Given the description of an element on the screen output the (x, y) to click on. 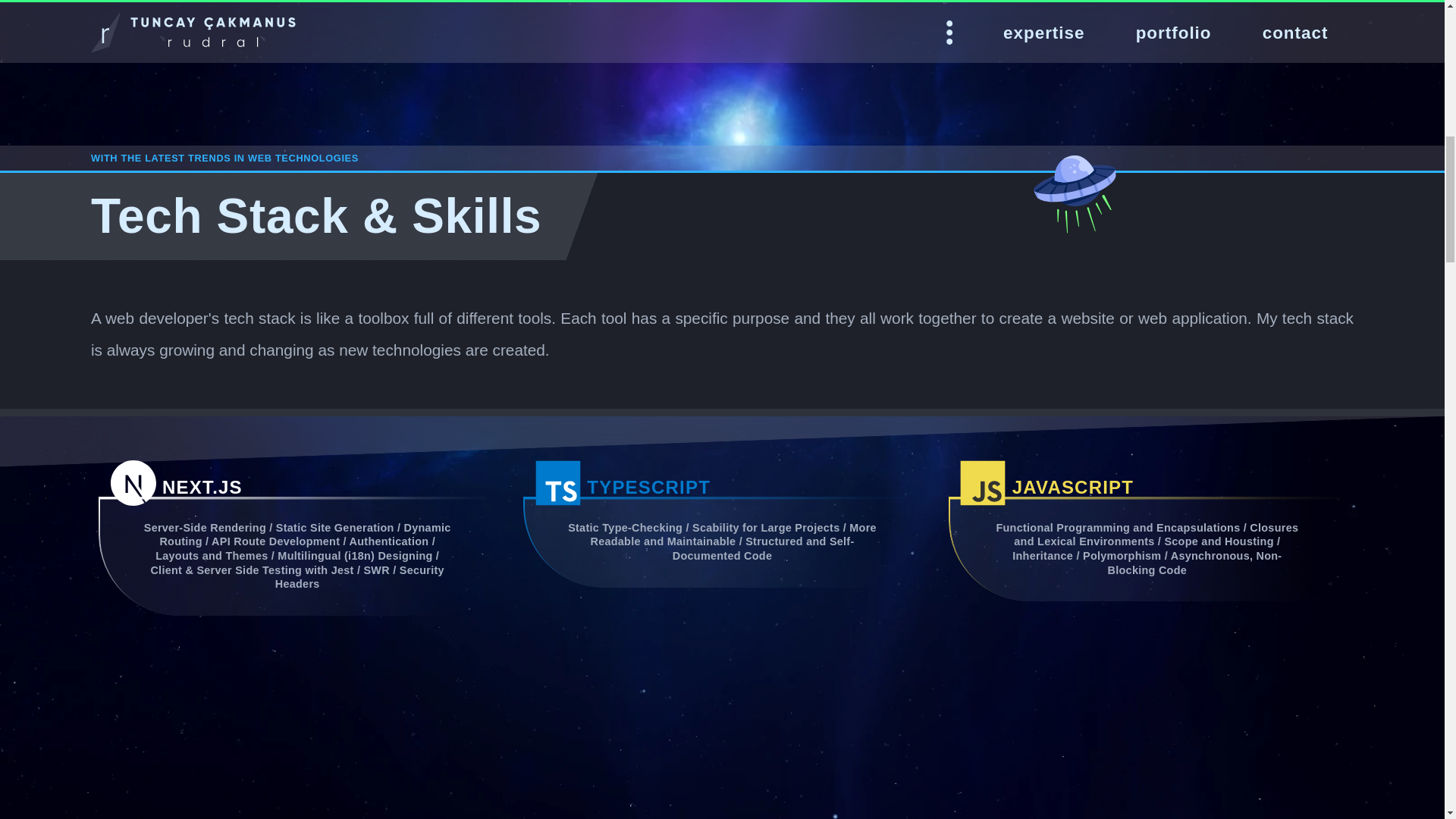
Can't touch this (1078, 196)
